Given the description of an element on the screen output the (x, y) to click on. 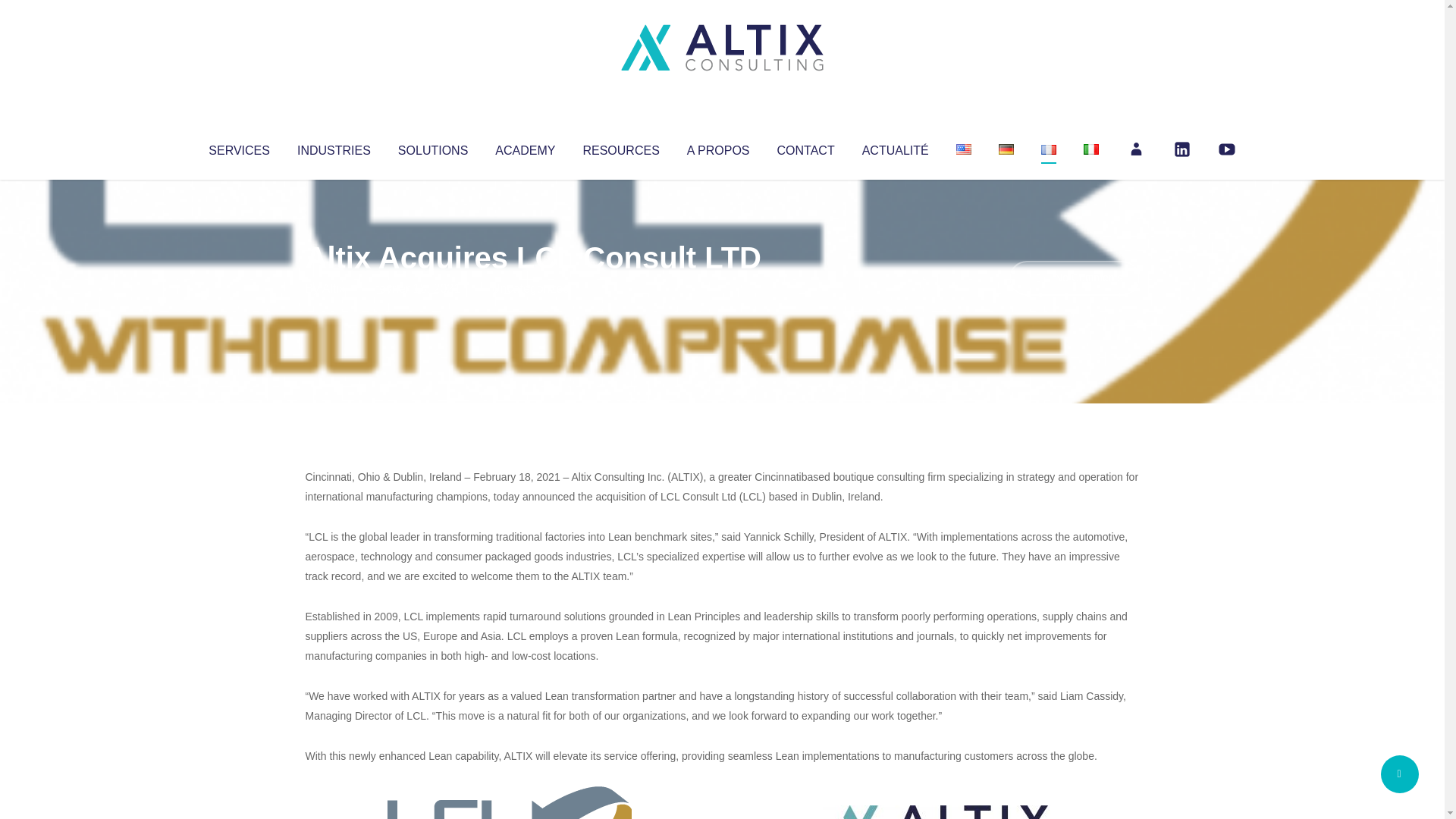
SERVICES (238, 146)
INDUSTRIES (334, 146)
Uncategorized (530, 287)
A PROPOS (718, 146)
Altix (333, 287)
RESOURCES (620, 146)
Articles par Altix (333, 287)
ACADEMY (524, 146)
No Comments (1073, 278)
SOLUTIONS (432, 146)
